Given the description of an element on the screen output the (x, y) to click on. 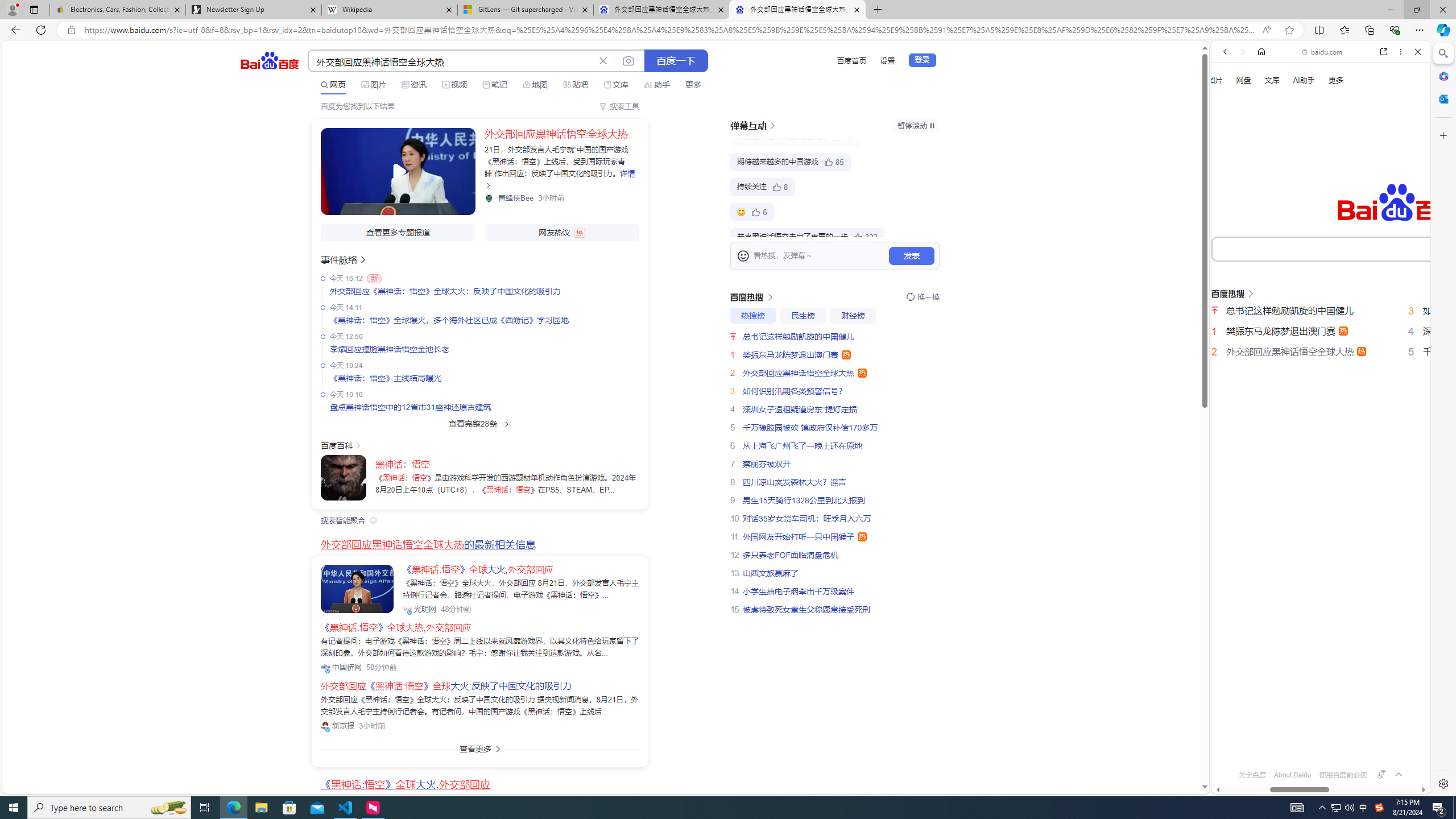
WEB   (1230, 192)
Wikipedia (390, 9)
English (Uk) (1320, 357)
About Baidu (1292, 774)
View site information (70, 29)
Search Filter, VIDEOS (1300, 192)
